Given the description of an element on the screen output the (x, y) to click on. 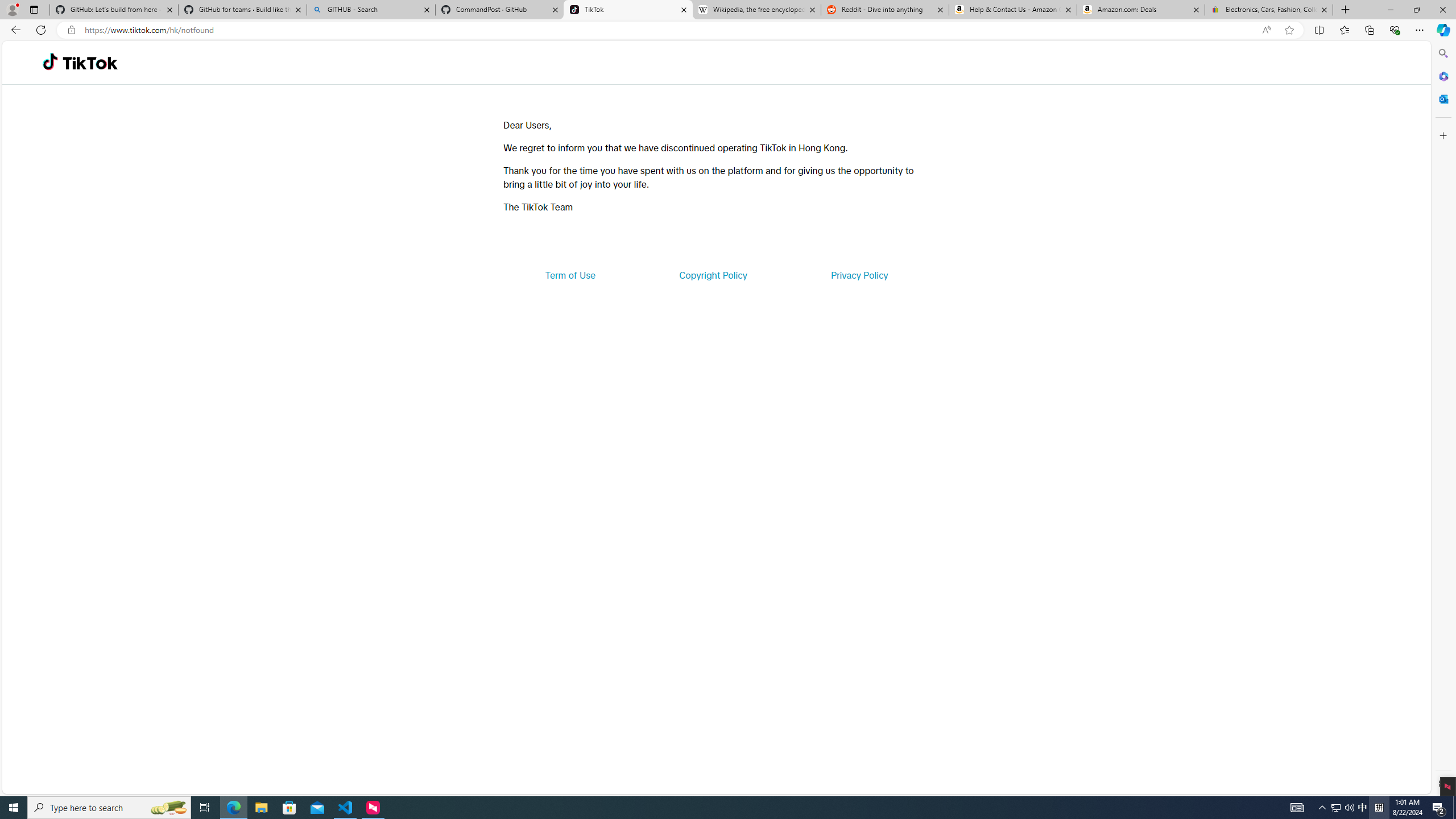
Reddit - Dive into anything (884, 9)
Amazon.com: Deals (1140, 9)
